Given the description of an element on the screen output the (x, y) to click on. 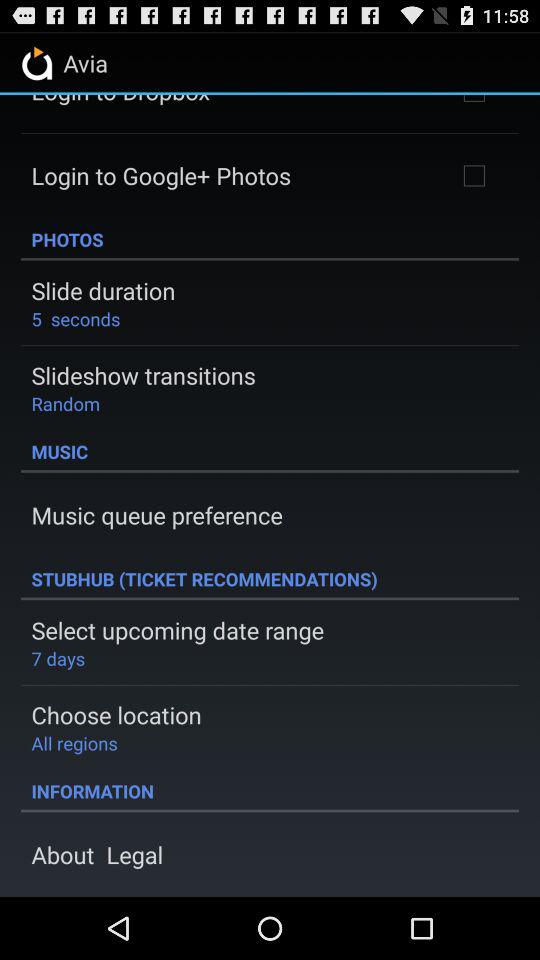
launch the app below the choose location icon (74, 742)
